Given the description of an element on the screen output the (x, y) to click on. 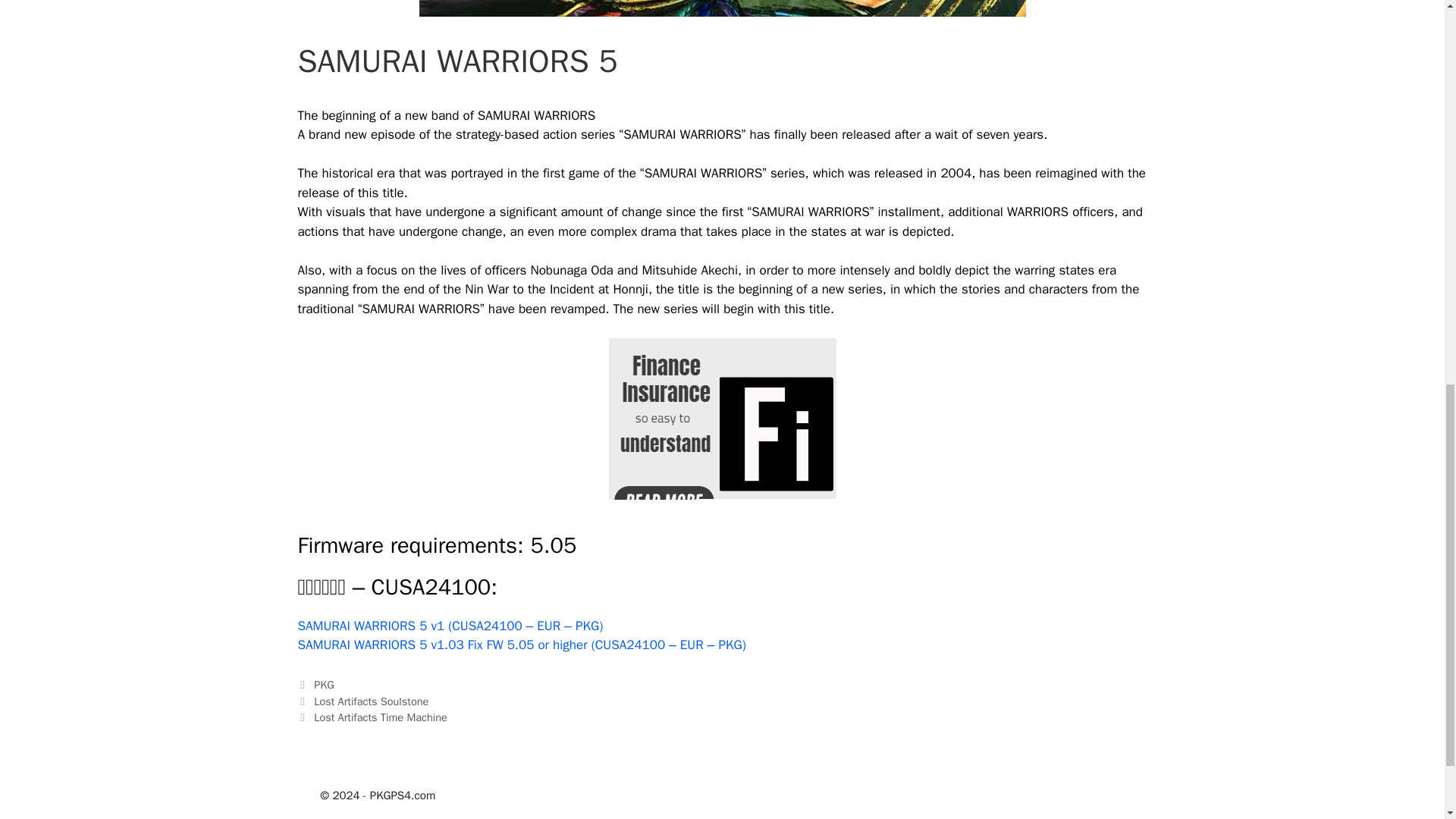
PKG (324, 684)
Privacy Policy (1003, 795)
DMCA (941, 795)
Donation Page (1087, 795)
Terms of Services (865, 795)
Lost Artifacts Time Machine (380, 716)
Lost Artifacts Soulstone (371, 701)
